Given the description of an element on the screen output the (x, y) to click on. 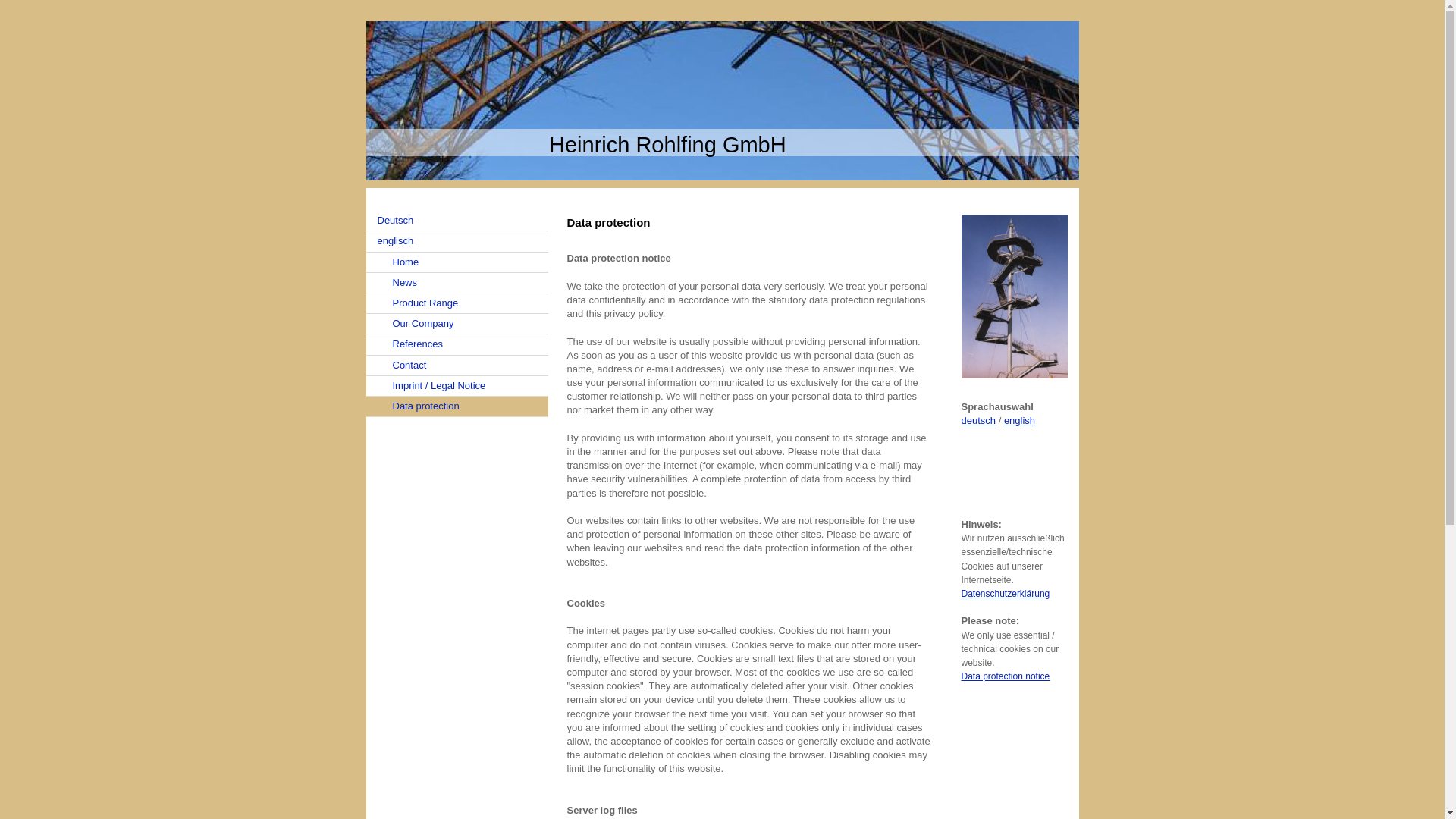
english (1019, 419)
Our Company (456, 323)
Data protection notice (1004, 675)
Data protection (456, 406)
Contact (456, 364)
References (456, 344)
Product Range (456, 303)
News (456, 282)
deutsch (977, 419)
Home (456, 262)
Deutsch (456, 220)
Heinrich Rohlfing GmbH (667, 144)
englisch (456, 240)
